Given the description of an element on the screen output the (x, y) to click on. 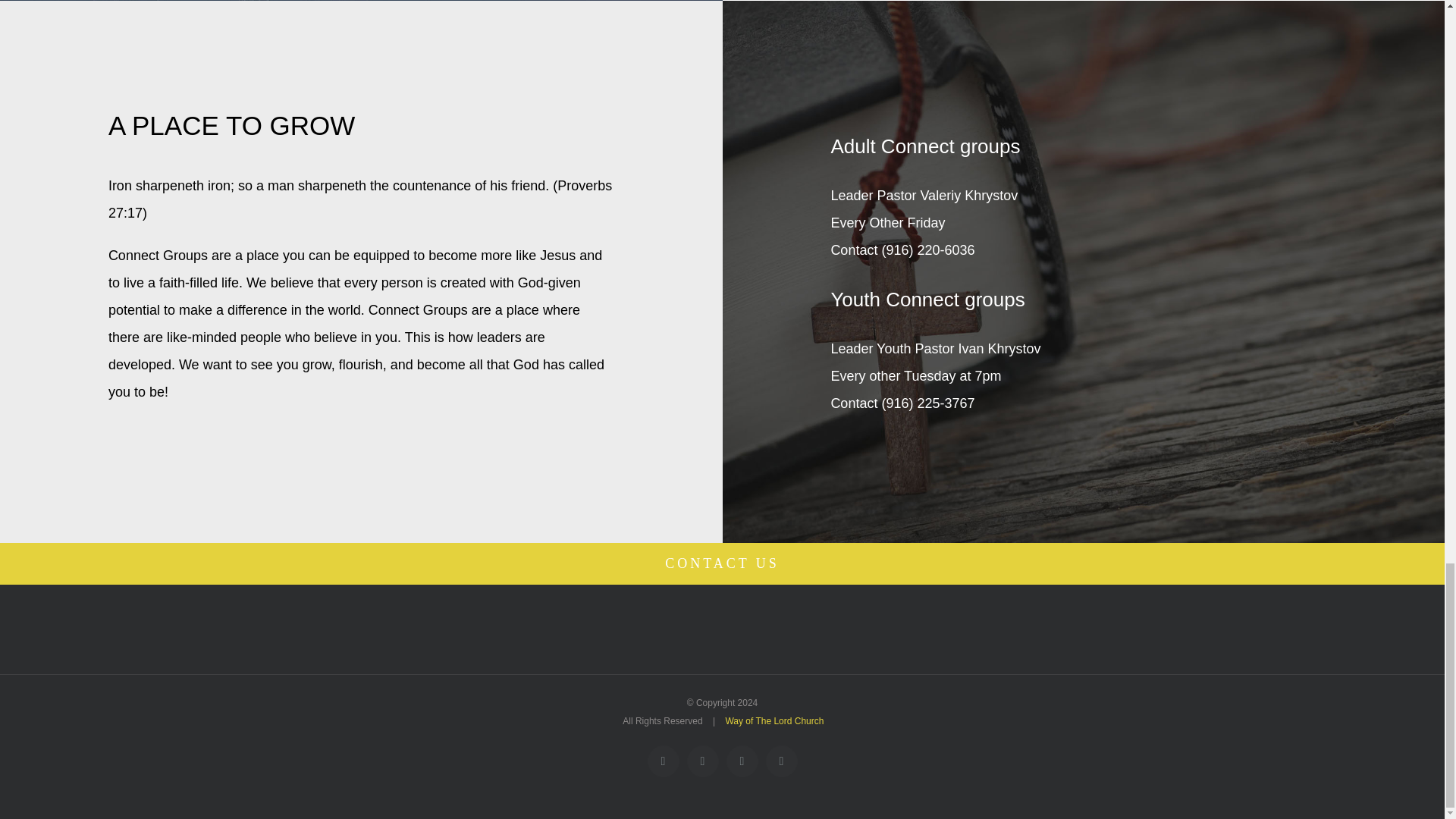
Way of The Lord Church (774, 720)
Instagram (663, 761)
YouTube (742, 761)
Facebook (703, 761)
Email (781, 761)
